Given the description of an element on the screen output the (x, y) to click on. 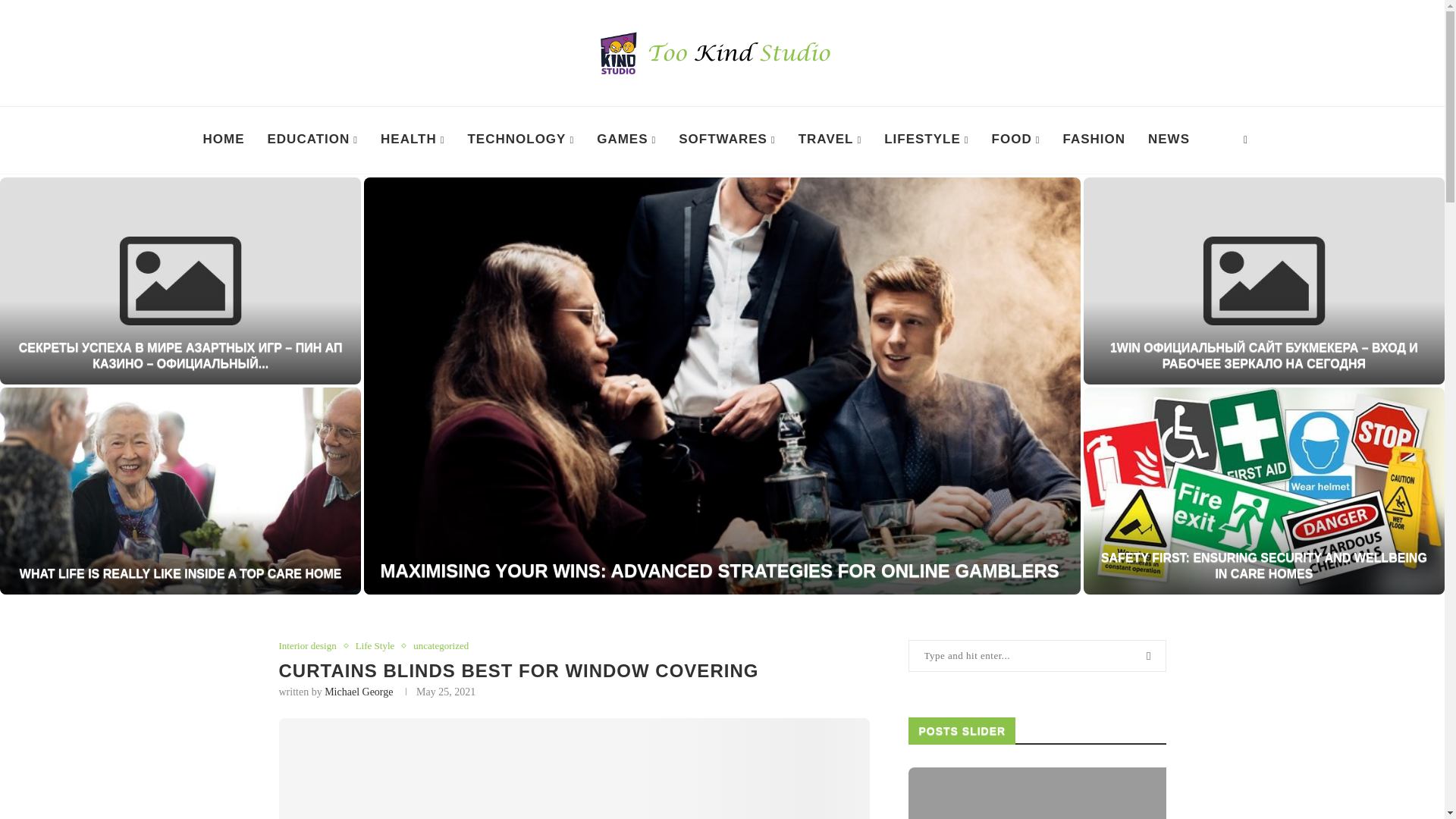
TECHNOLOGY (520, 139)
EDUCATION (312, 139)
HOME (223, 139)
HEALTH (412, 139)
